Given the description of an element on the screen output the (x, y) to click on. 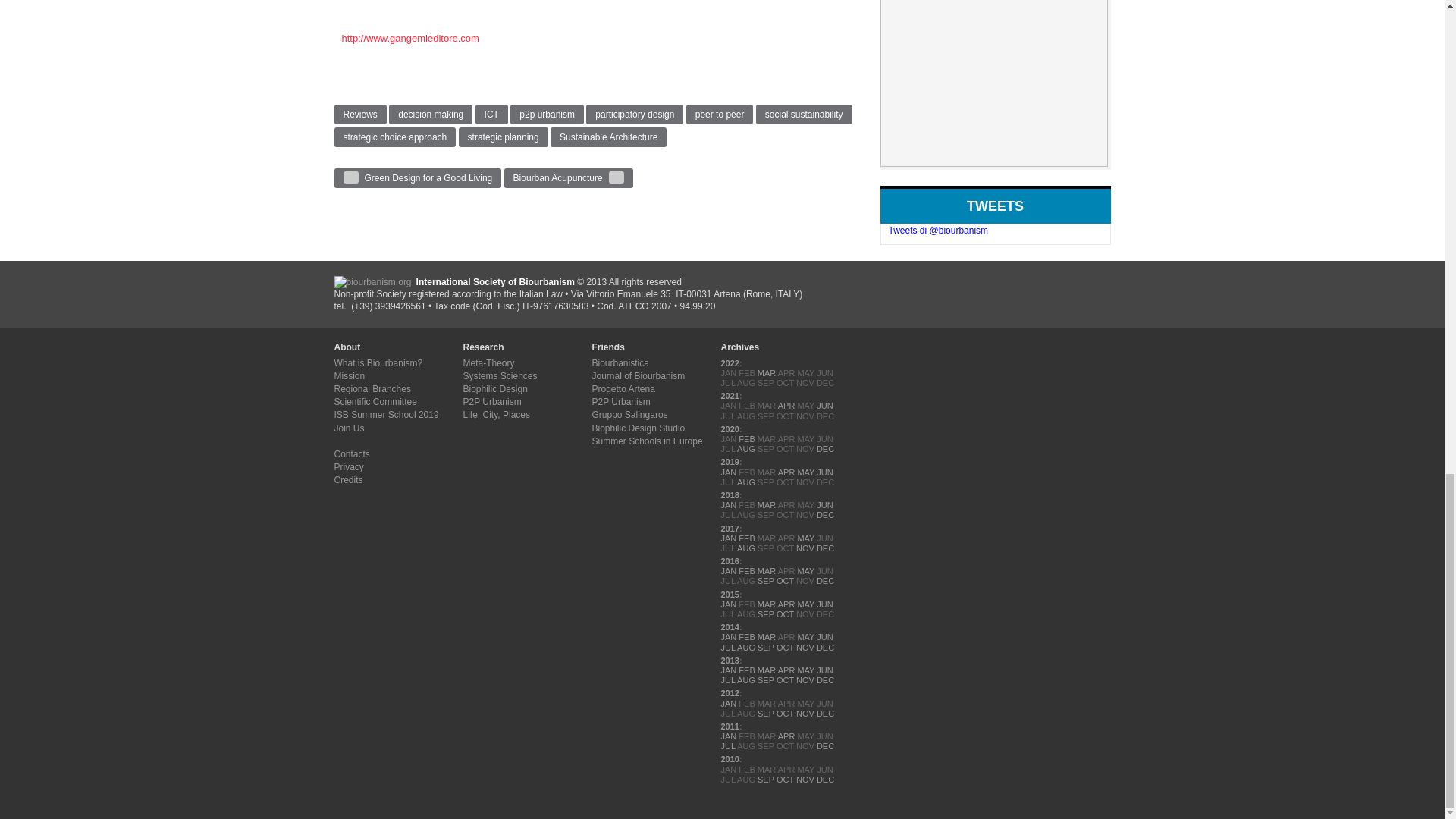
Sustainable Architecture (608, 137)
ICT (492, 114)
peer to peer (719, 114)
Partecipazione e ICT (409, 38)
Reviews (359, 114)
participatory design (634, 114)
strategic planning (503, 137)
strategic choice approach (394, 137)
social sustainability (803, 114)
decision making (429, 114)
